Given the description of an element on the screen output the (x, y) to click on. 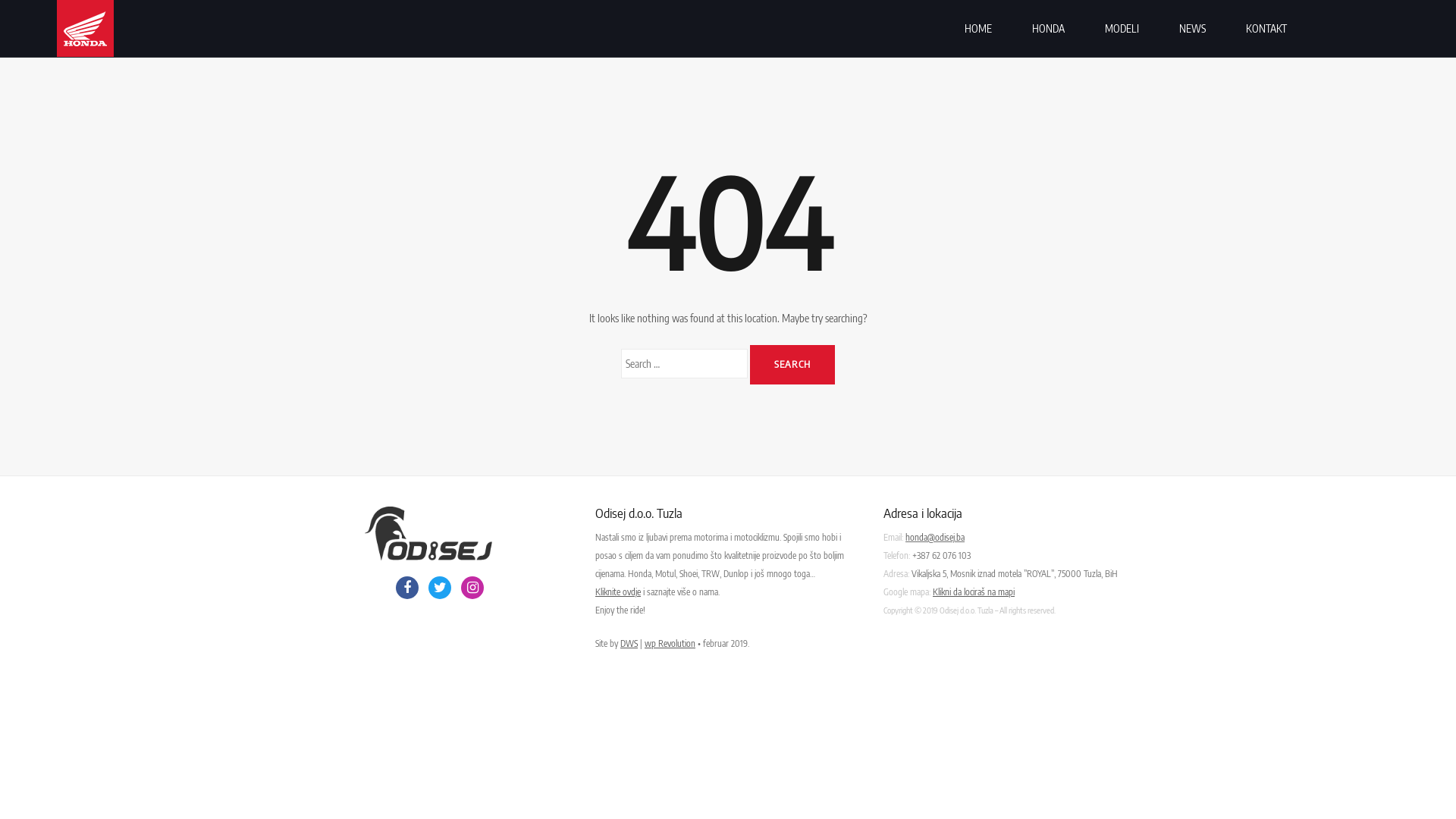
HOME Element type: text (977, 28)
Search Element type: text (791, 364)
KONTAKT Element type: text (1265, 28)
MODELI Element type: text (1121, 28)
DWS Element type: text (628, 643)
Facebook Element type: text (406, 587)
Twitter Element type: text (439, 587)
Instagram Element type: text (472, 587)
HONDA Element type: text (1048, 28)
wp Revolution Element type: text (669, 643)
honda@odisej.ba Element type: text (934, 536)
NEWS Element type: text (1192, 28)
Kliknite ovdje Element type: text (617, 591)
